Given the description of an element on the screen output the (x, y) to click on. 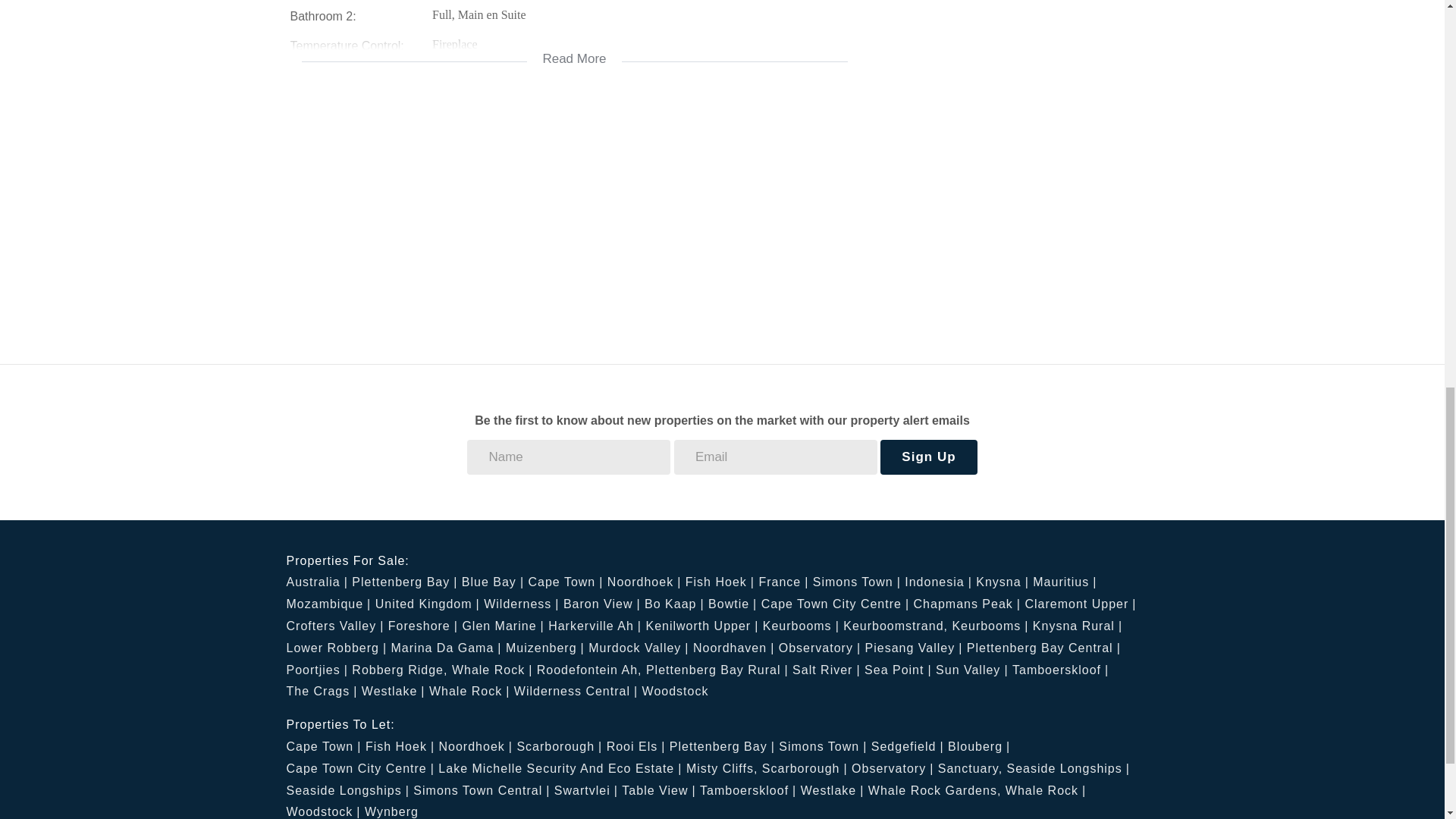
Properties for sale in Simons Town (856, 581)
Properties for sale in Noordhoek (644, 581)
Properties for sale in France (783, 581)
Properties for sale in Wilderness (521, 603)
Properties for sale in Mozambique (328, 603)
Properties for sale in Australia (316, 581)
Properties for sale in Baron View, Plettenberg Bay (601, 603)
Properties for sale in Knysna (1002, 581)
Properties for sale in Indonesia (938, 581)
Properties for sale in Blue Bay (492, 581)
Properties for sale in Bo Kaap, Cape Town (674, 603)
Read More (574, 49)
Properties for sale in Cape Town (564, 581)
Properties for sale in United Kingdom (427, 603)
Properties for sale in Fish Hoek (719, 581)
